Given the description of an element on the screen output the (x, y) to click on. 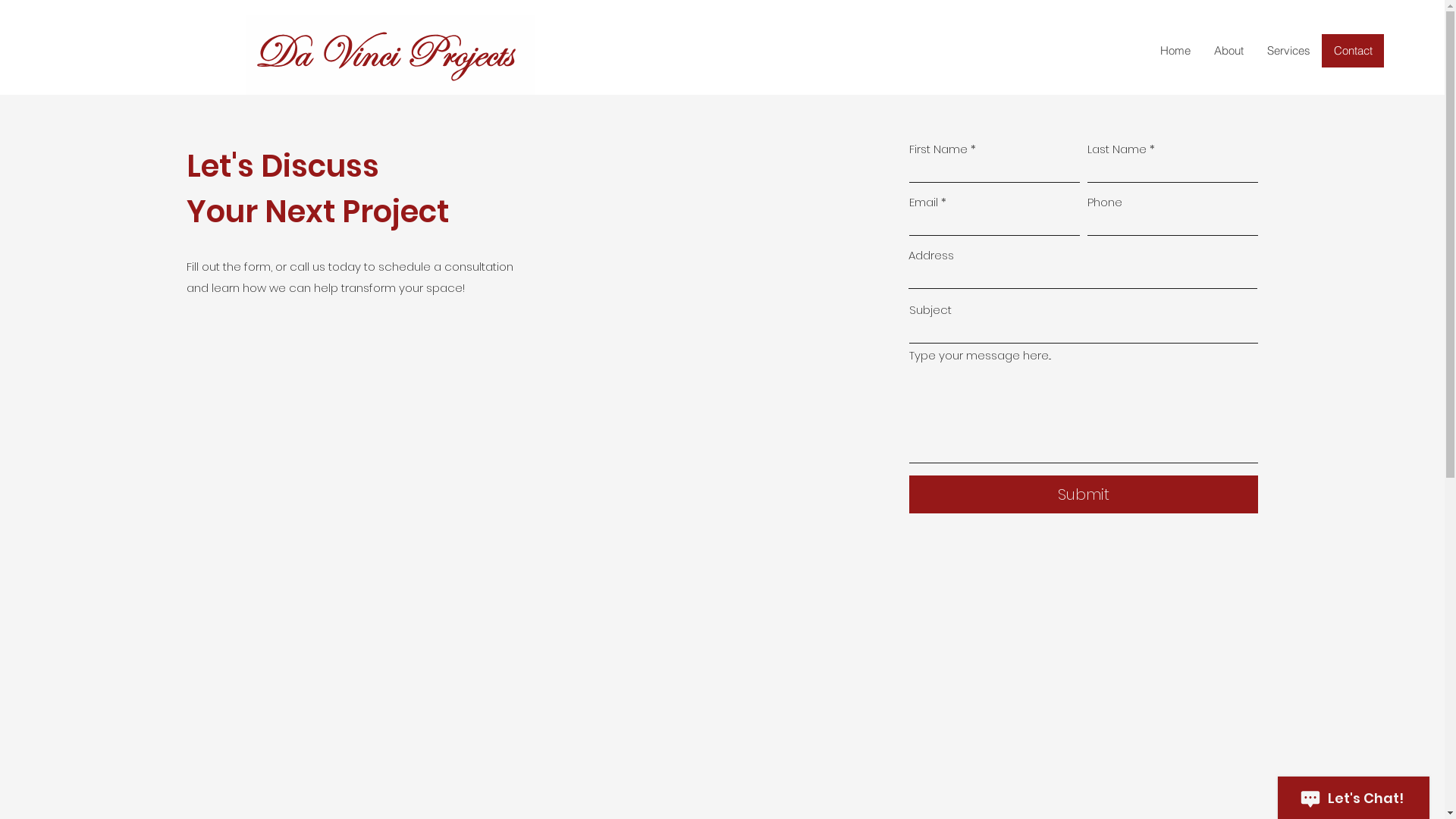
Contact Element type: text (1352, 50)
Services Element type: text (1288, 50)
About Element type: text (1228, 50)
Home Element type: text (1174, 50)
Submit Element type: text (1083, 494)
